Given the description of an element on the screen output the (x, y) to click on. 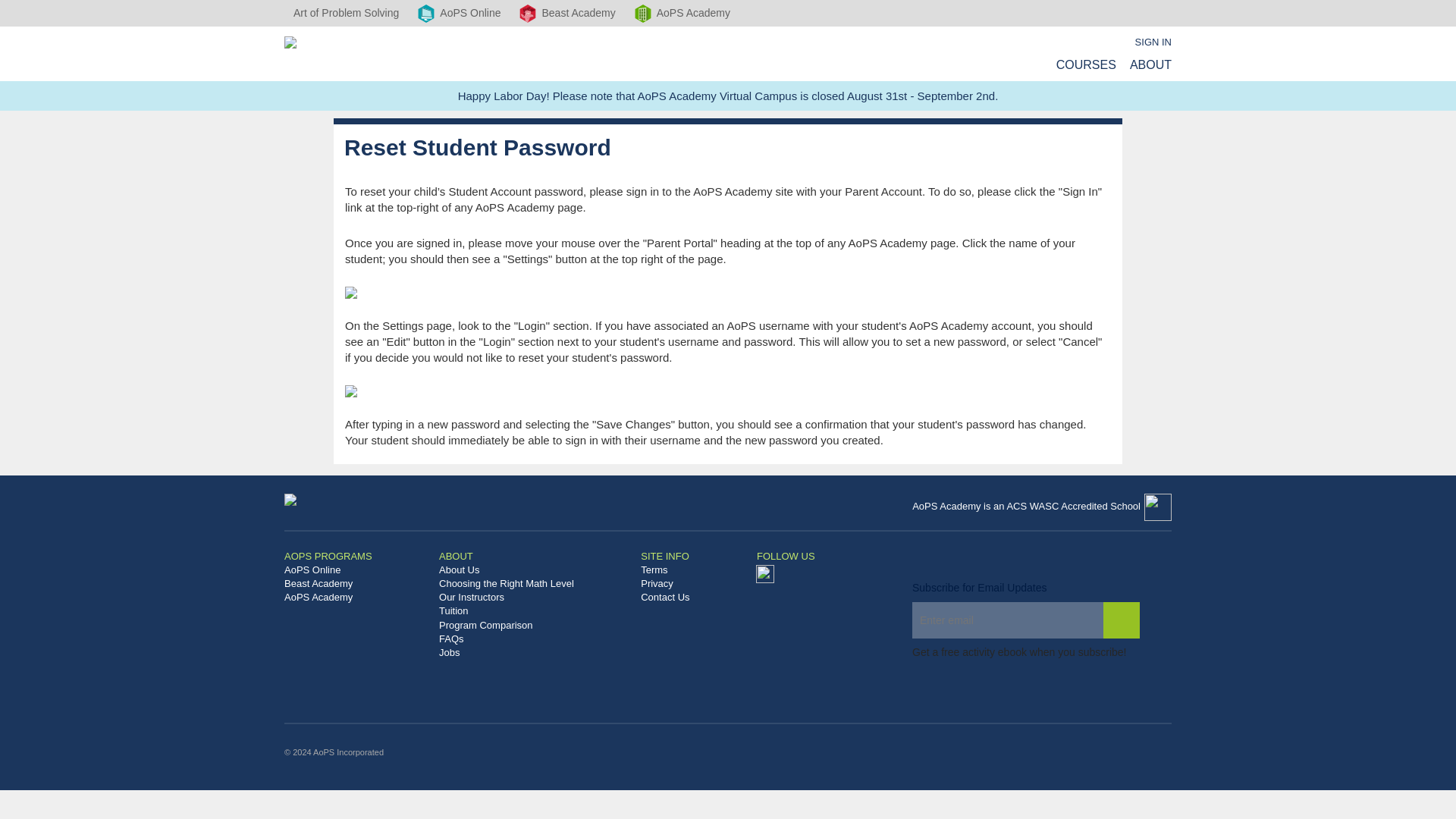
AoPS Online (458, 13)
AoPS Academy (354, 597)
FAQs (533, 639)
Terms (691, 570)
ABOUT (1150, 64)
AoPS Online (354, 570)
Privacy (691, 583)
Our Instructors (533, 597)
Tuition (533, 611)
Choosing the Right Math Level (533, 583)
